Given the description of an element on the screen output the (x, y) to click on. 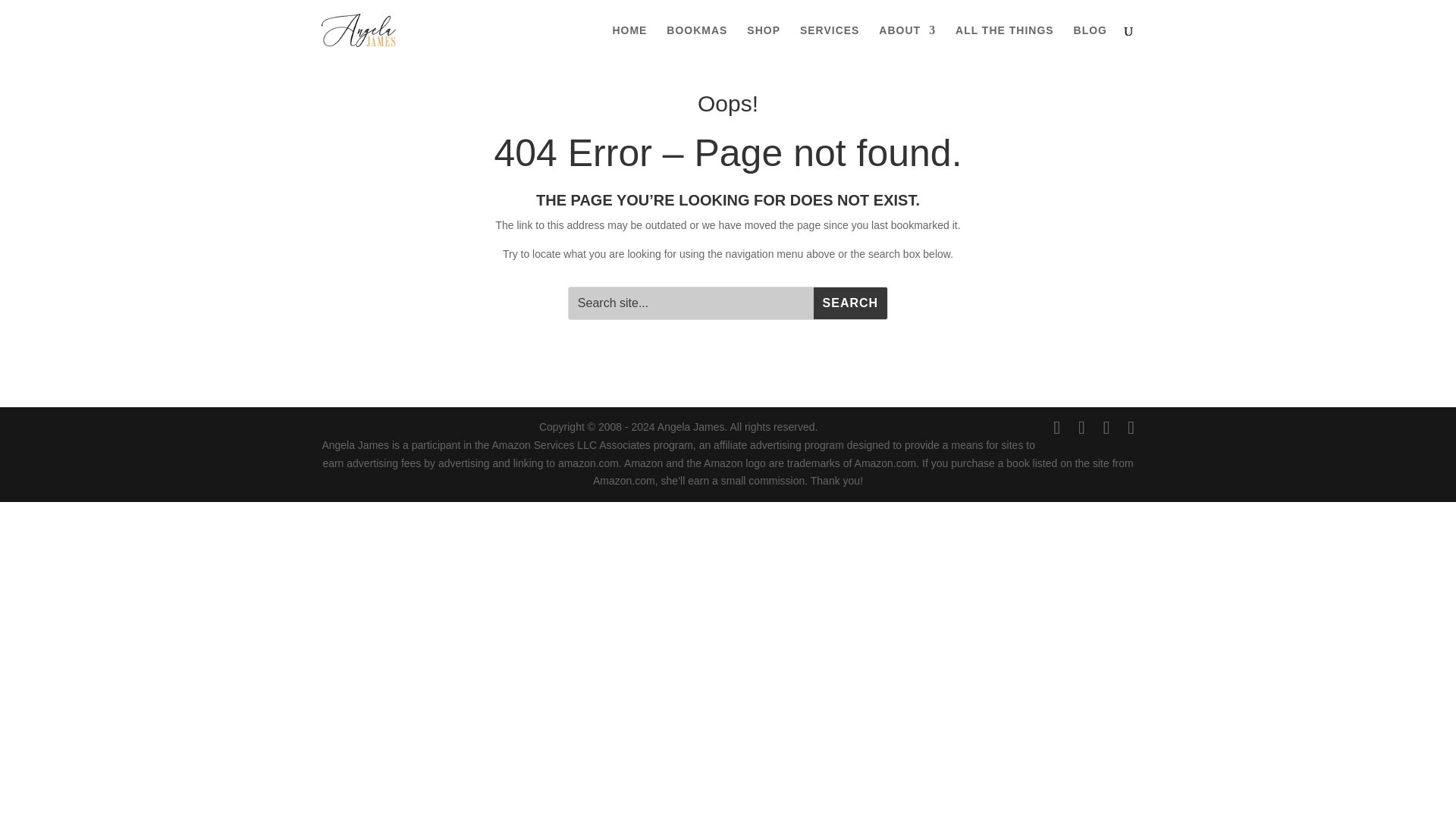
BOOKMAS (696, 42)
SHOP (763, 42)
ABOUT (907, 42)
Search (849, 303)
Search (849, 303)
SERVICES (829, 42)
Search (849, 303)
BLOG (1090, 42)
ALL THE THINGS (1004, 42)
HOME (628, 42)
